Given the description of an element on the screen output the (x, y) to click on. 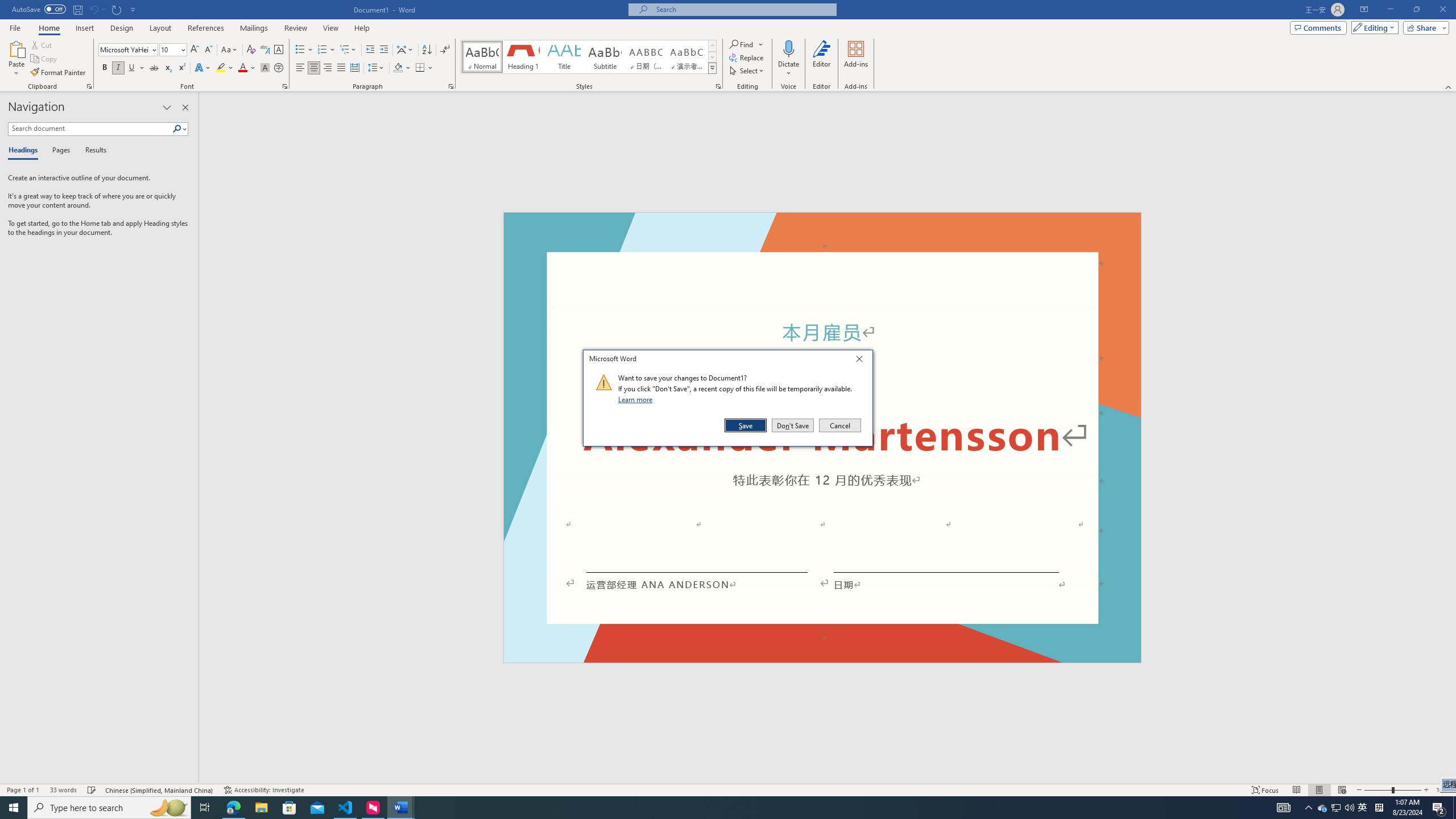
File Explorer (261, 807)
Zoom 100% (1443, 790)
